Given the description of an element on the screen output the (x, y) to click on. 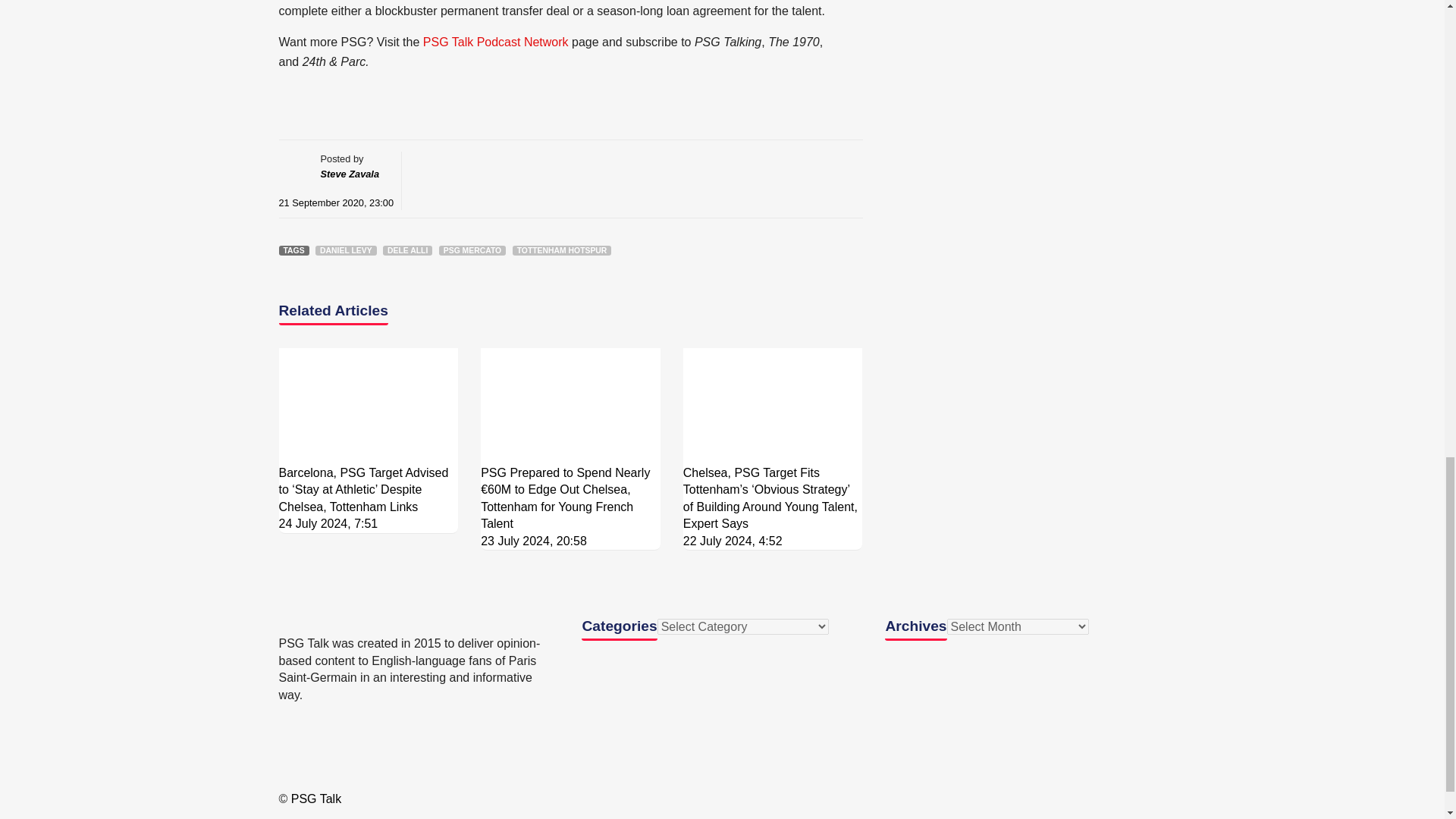
PSG Talk Podcast Network (496, 42)
